Given the description of an element on the screen output the (x, y) to click on. 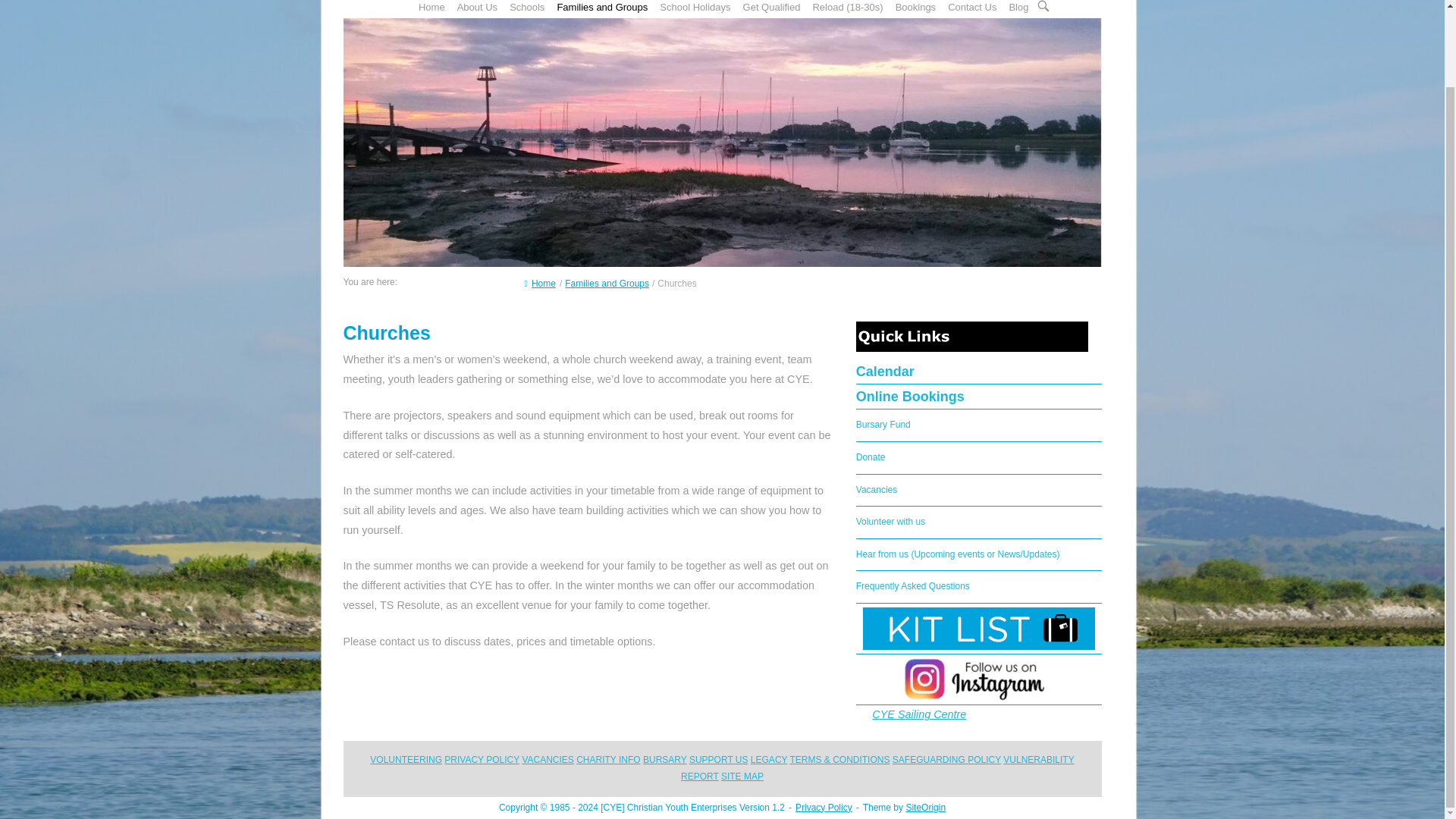
Get Qualified (771, 7)
Schools (526, 7)
About Us (477, 7)
Families and Groups (601, 7)
Home (431, 7)
School Holidays (694, 7)
